Given the description of an element on the screen output the (x, y) to click on. 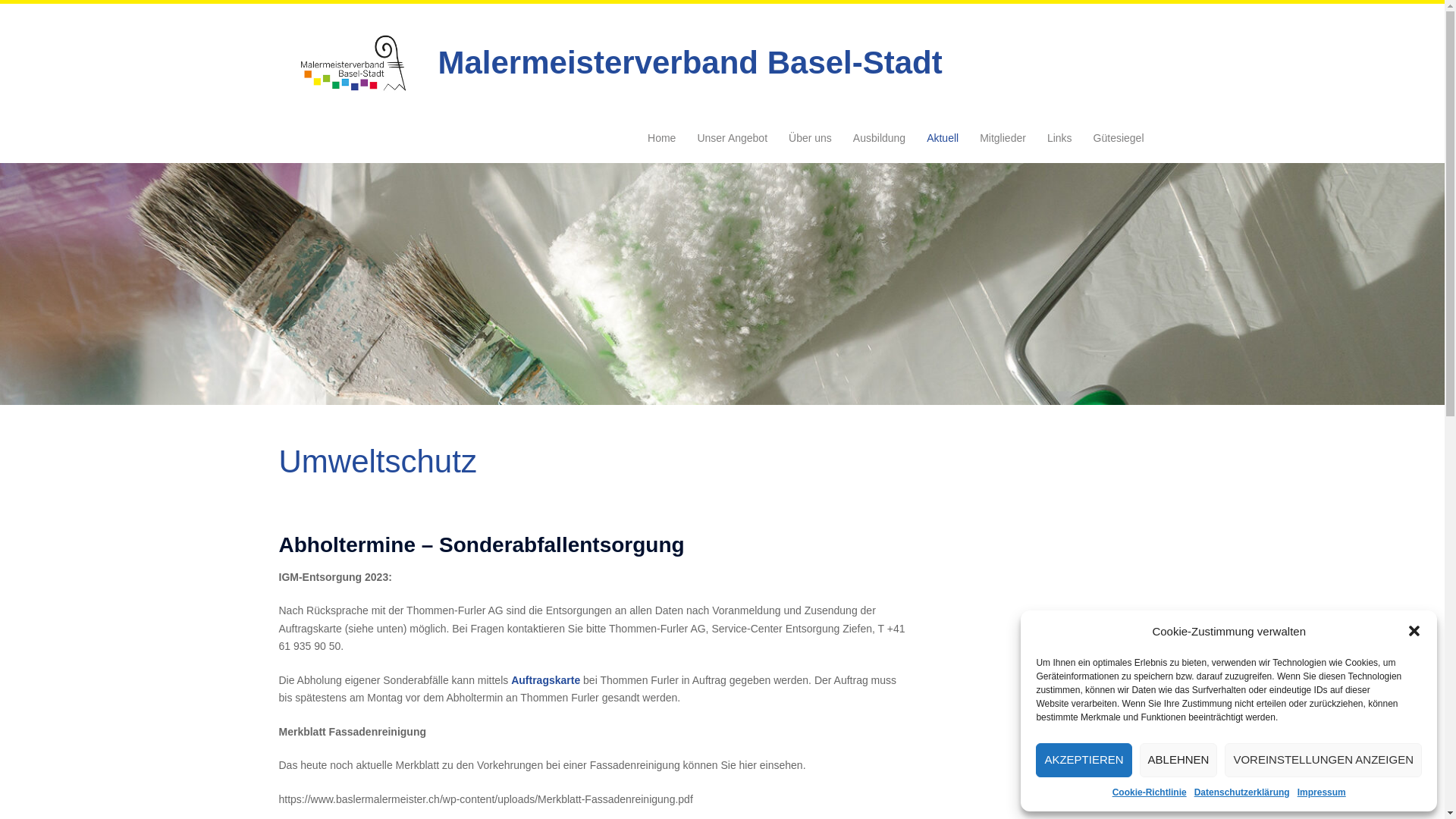
ABLEHNEN Element type: text (1178, 760)
Mitglieder Element type: text (1002, 138)
VOREINSTELLUNGEN ANZEIGEN Element type: text (1322, 760)
Ausbildung Element type: text (879, 138)
Cookie-Richtlinie Element type: text (1149, 792)
AKZEPTIEREN Element type: text (1083, 760)
Home Element type: text (661, 138)
Malermeisterverband Basel-Stadt Element type: hover (351, 62)
Links Element type: text (1059, 138)
Aktuell Element type: text (942, 138)
Unser Angebot Element type: text (731, 138)
Auftragskarte Element type: text (545, 680)
Impressum Element type: text (1321, 792)
